Given the description of an element on the screen output the (x, y) to click on. 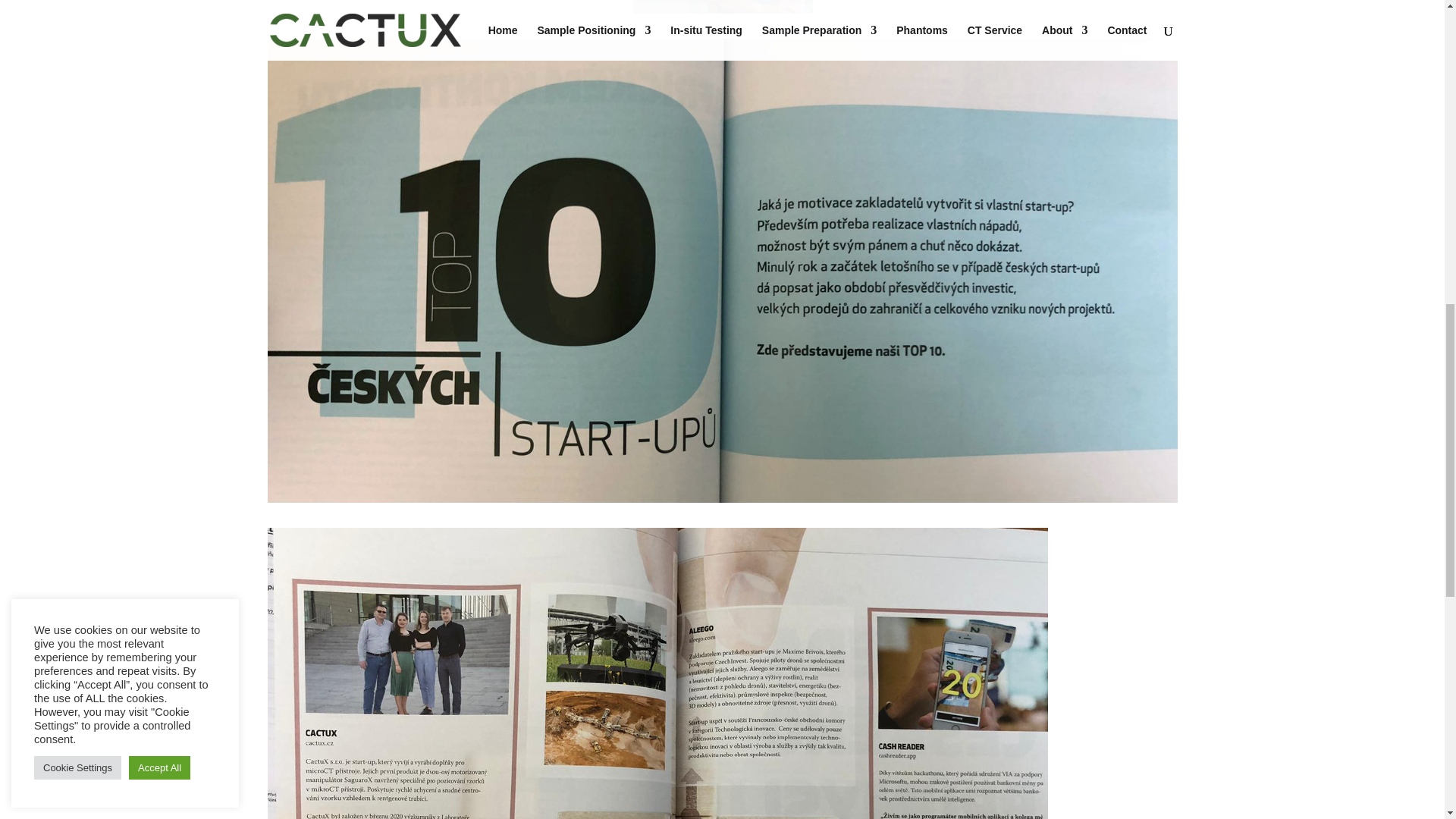
obalka-zpFQg4zzktIRt5qh (721, 6)
